Given the description of an element on the screen output the (x, y) to click on. 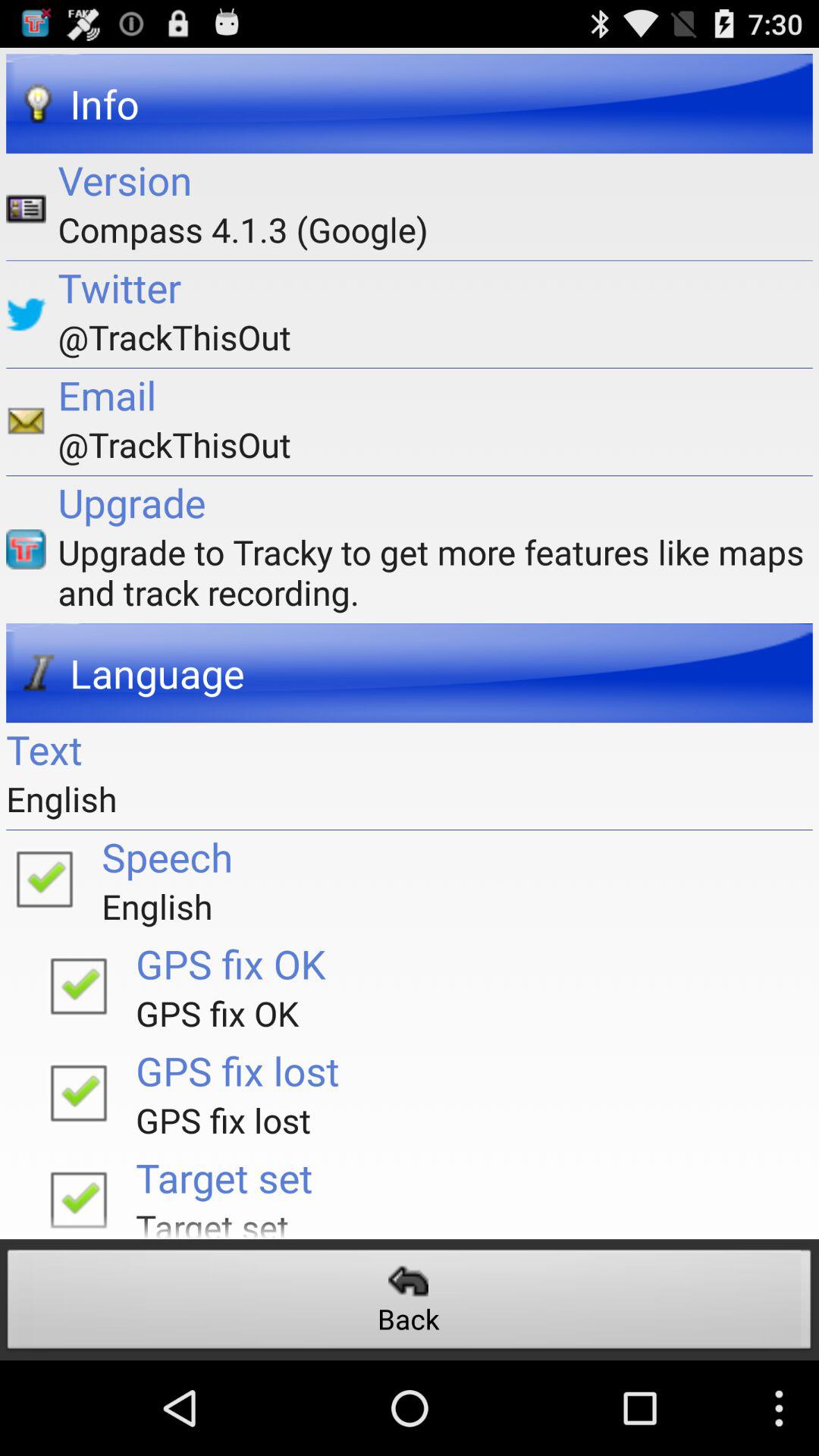
click option (43, 877)
